Given the description of an element on the screen output the (x, y) to click on. 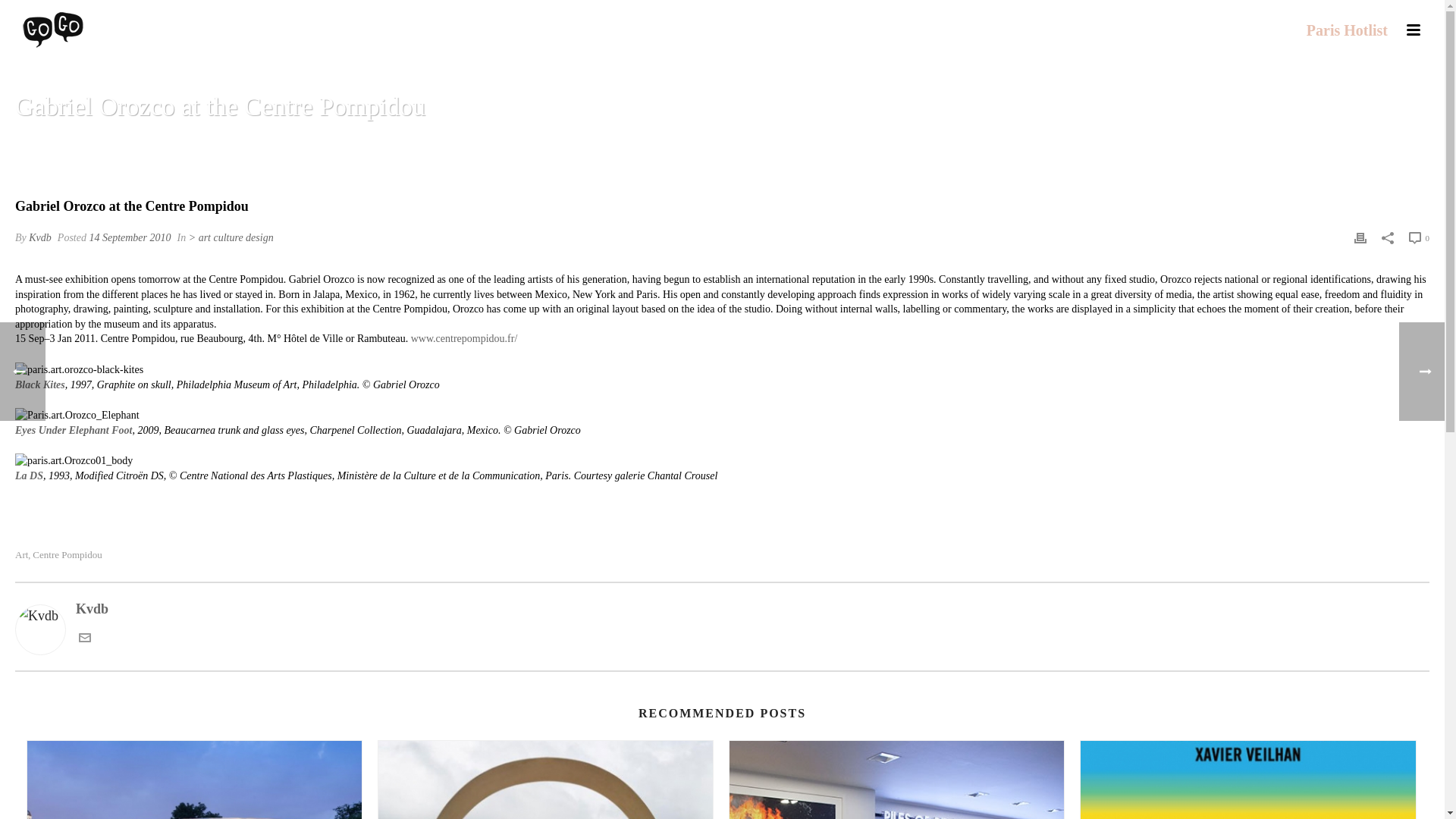
Art (20, 554)
LONDON: SERPENTINE PAVILION 2014 (194, 780)
Kvdb (39, 237)
Posts by Kvdb (39, 237)
Paris Hotlist (1346, 30)
Kvdb (721, 609)
Centre Pompidou (66, 554)
Insider Guides to Go (52, 30)
paris.art.orozco-black-kites (78, 369)
14 September 2010 (129, 237)
PARIS: LEE UFAN AT VERSAILLES (545, 780)
HOME (1079, 145)
